Given the description of an element on the screen output the (x, y) to click on. 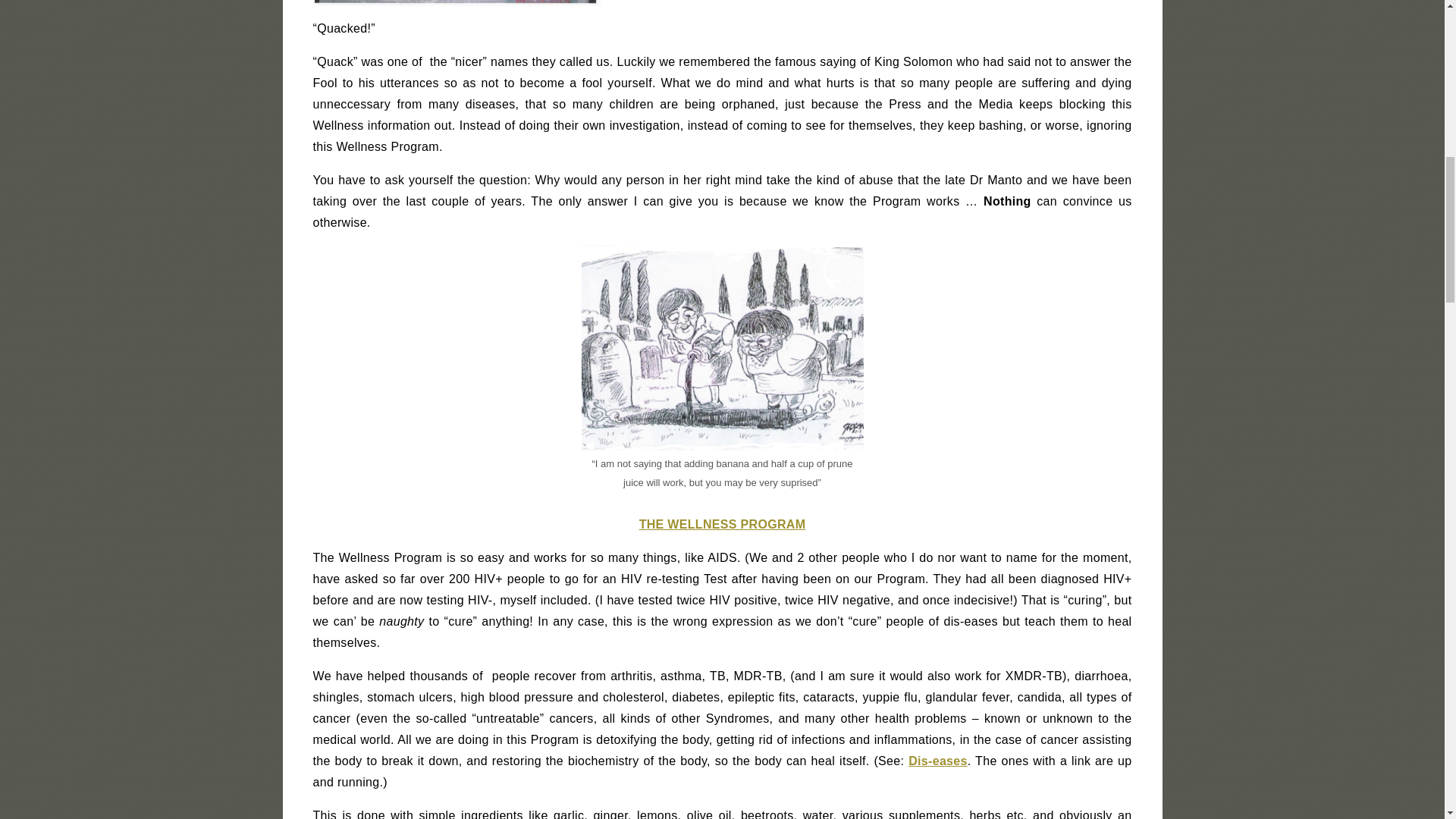
THE WELLNESS PROGRAM (722, 523)
Dis-eases (938, 760)
